Given the description of an element on the screen output the (x, y) to click on. 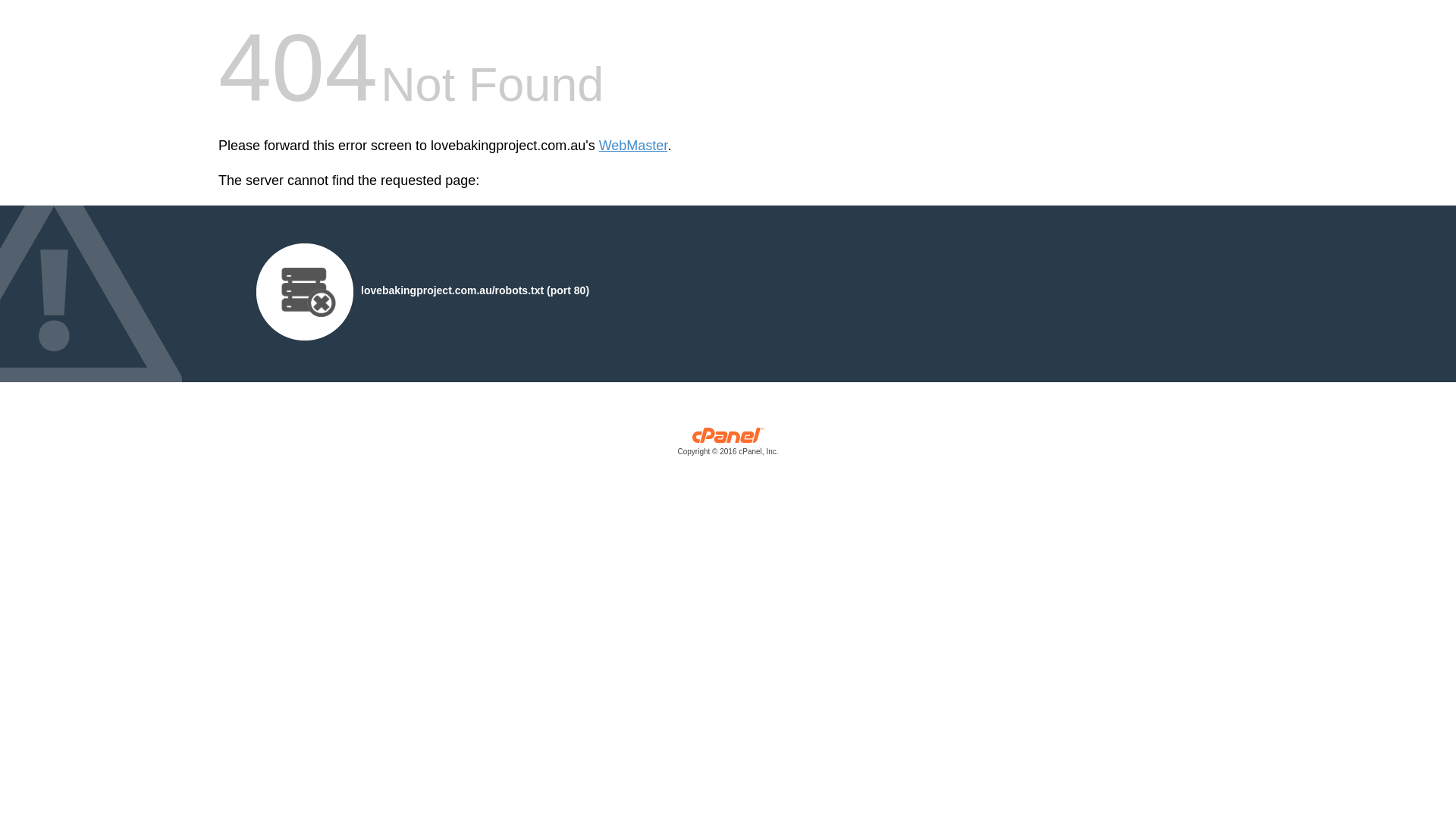
WebMaster Element type: text (633, 145)
